Given the description of an element on the screen output the (x, y) to click on. 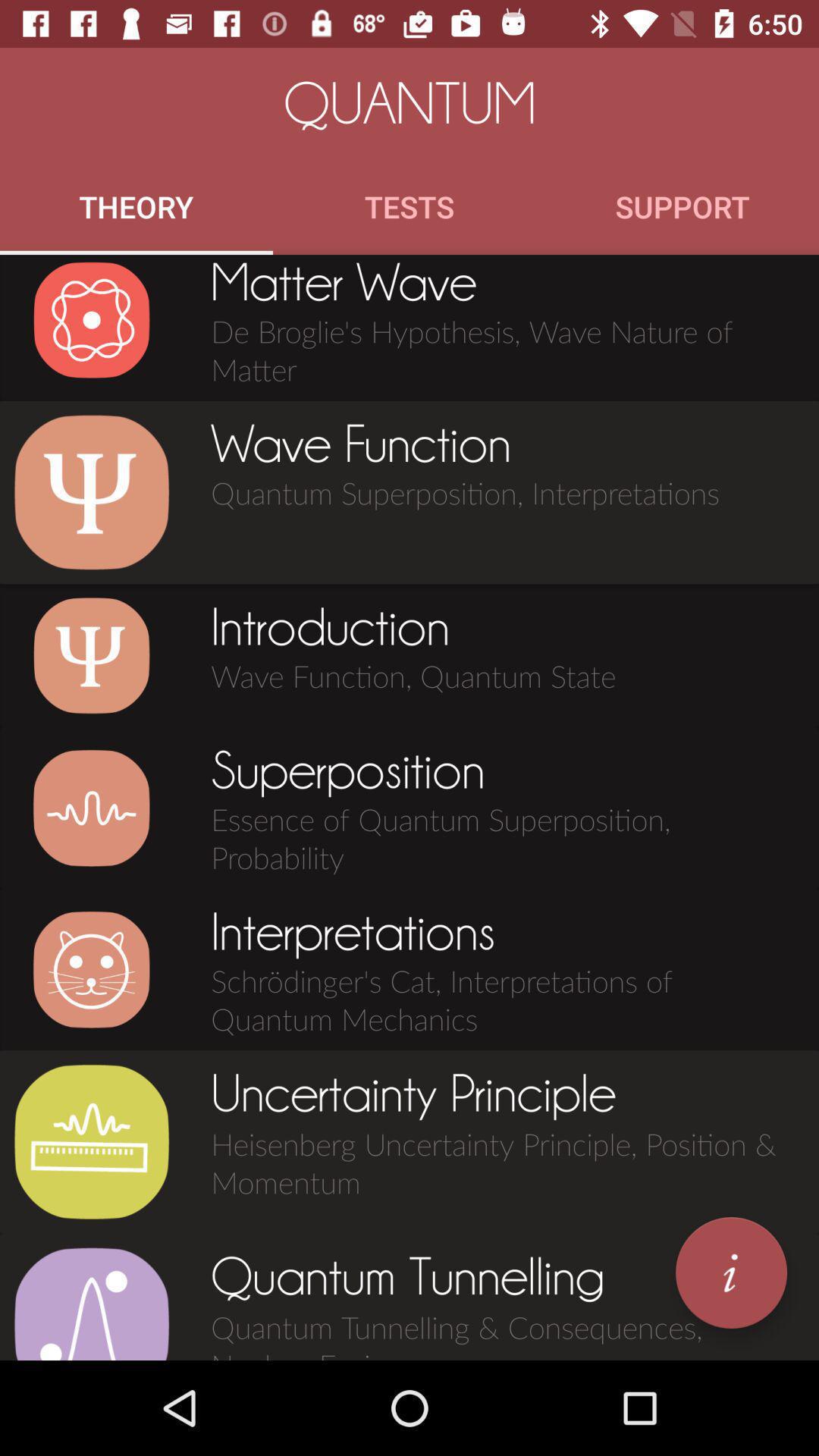
quantum tunnelling (91, 1302)
